Given the description of an element on the screen output the (x, y) to click on. 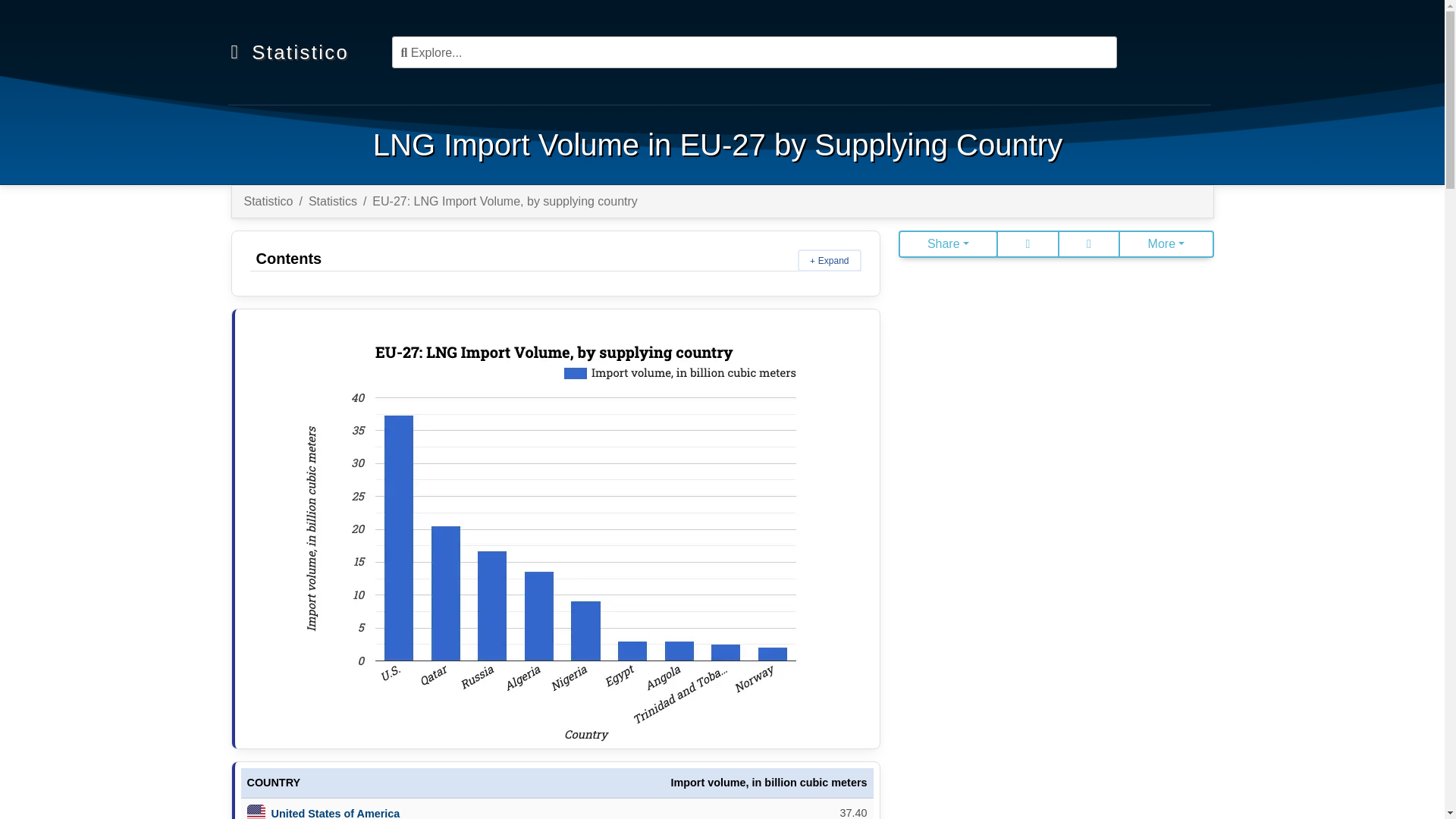
United States of America (335, 813)
Statistico (302, 51)
EU-27: LNG Import Volume, by supplying country (557, 527)
United States of America (335, 813)
Statistico (269, 201)
Expand (829, 260)
LNG Import Volume in EU-27 by Supplying Country (717, 144)
Statistico (302, 51)
EU-27: LNG Import Volume, by supplying country (504, 201)
Statistics (332, 201)
